Given the description of an element on the screen output the (x, y) to click on. 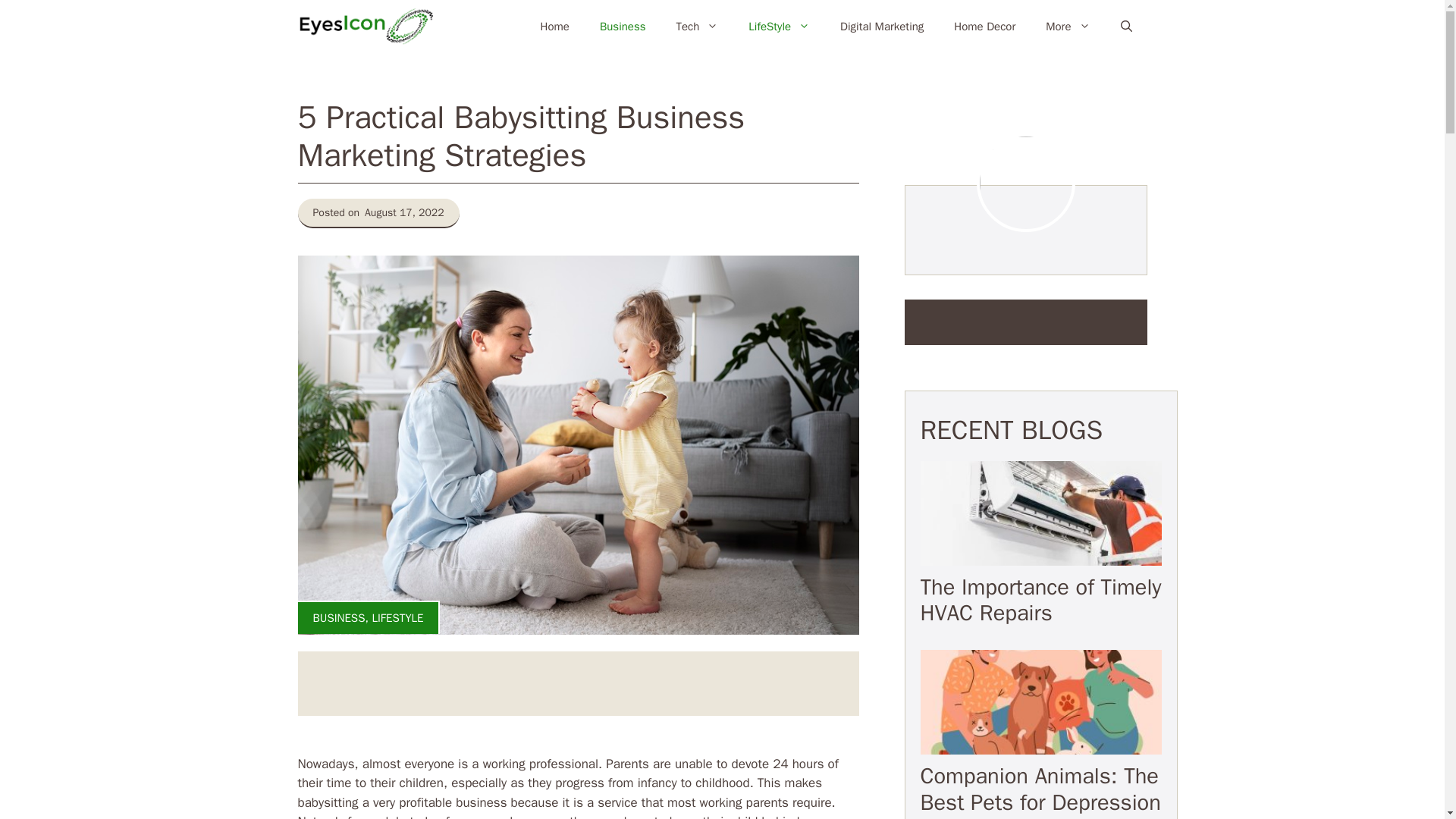
Home Decor (984, 26)
Home (555, 26)
Tech (697, 26)
Companion Animals: The Best Pets for Depression (1040, 789)
The Importance of Timely HVAC Repairs (1040, 600)
BUSINESS (339, 617)
LIFESTYLE (397, 617)
LifeStyle (779, 26)
More (1067, 26)
Digital Marketing (882, 26)
